Given the description of an element on the screen output the (x, y) to click on. 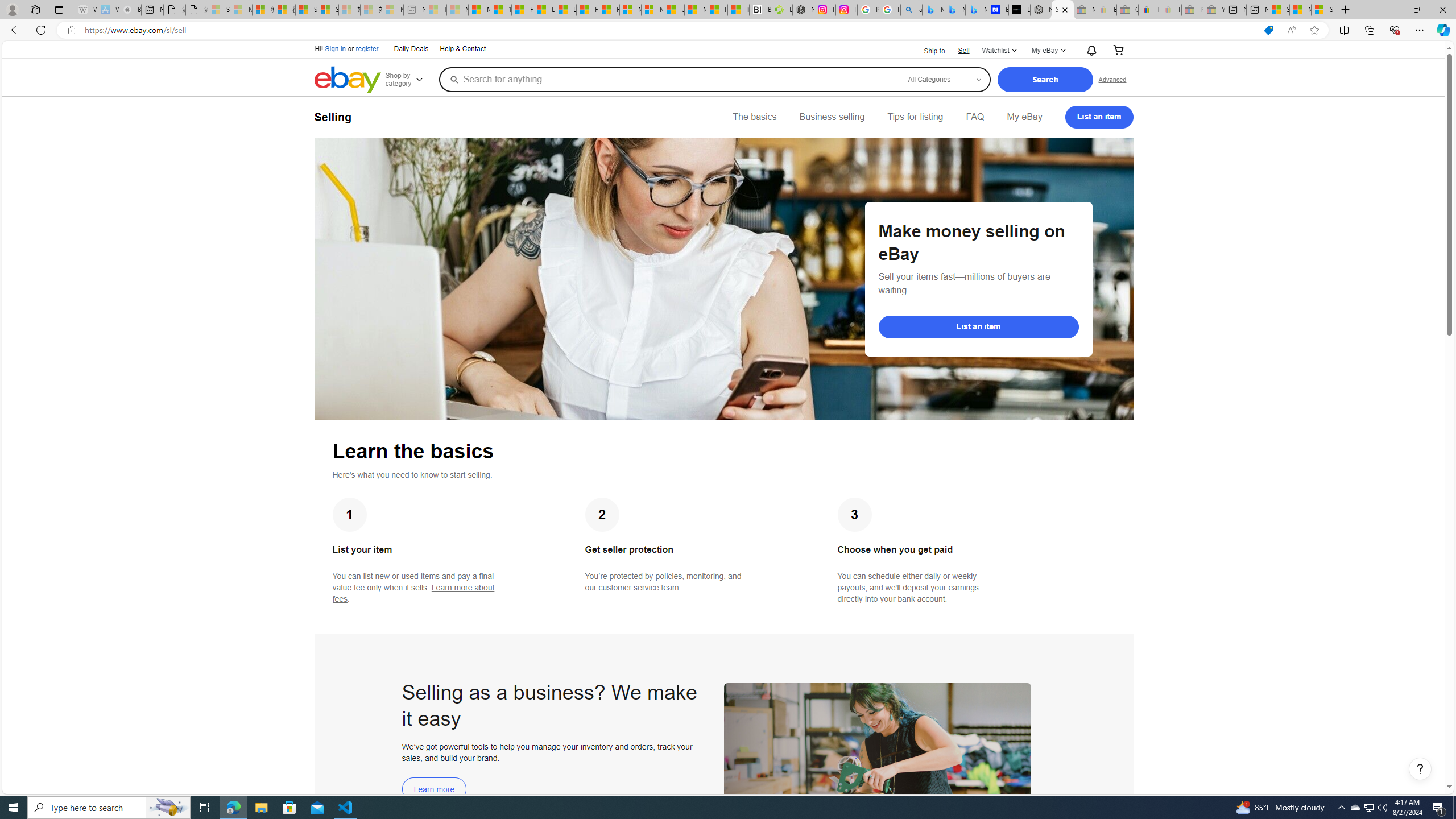
Address and search bar (669, 29)
Ship to (927, 50)
Daily Deals (411, 49)
Tips for listing (914, 116)
Advanced Search (1112, 78)
Threats and offensive language policy | eBay (1149, 9)
